Given the description of an element on the screen output the (x, y) to click on. 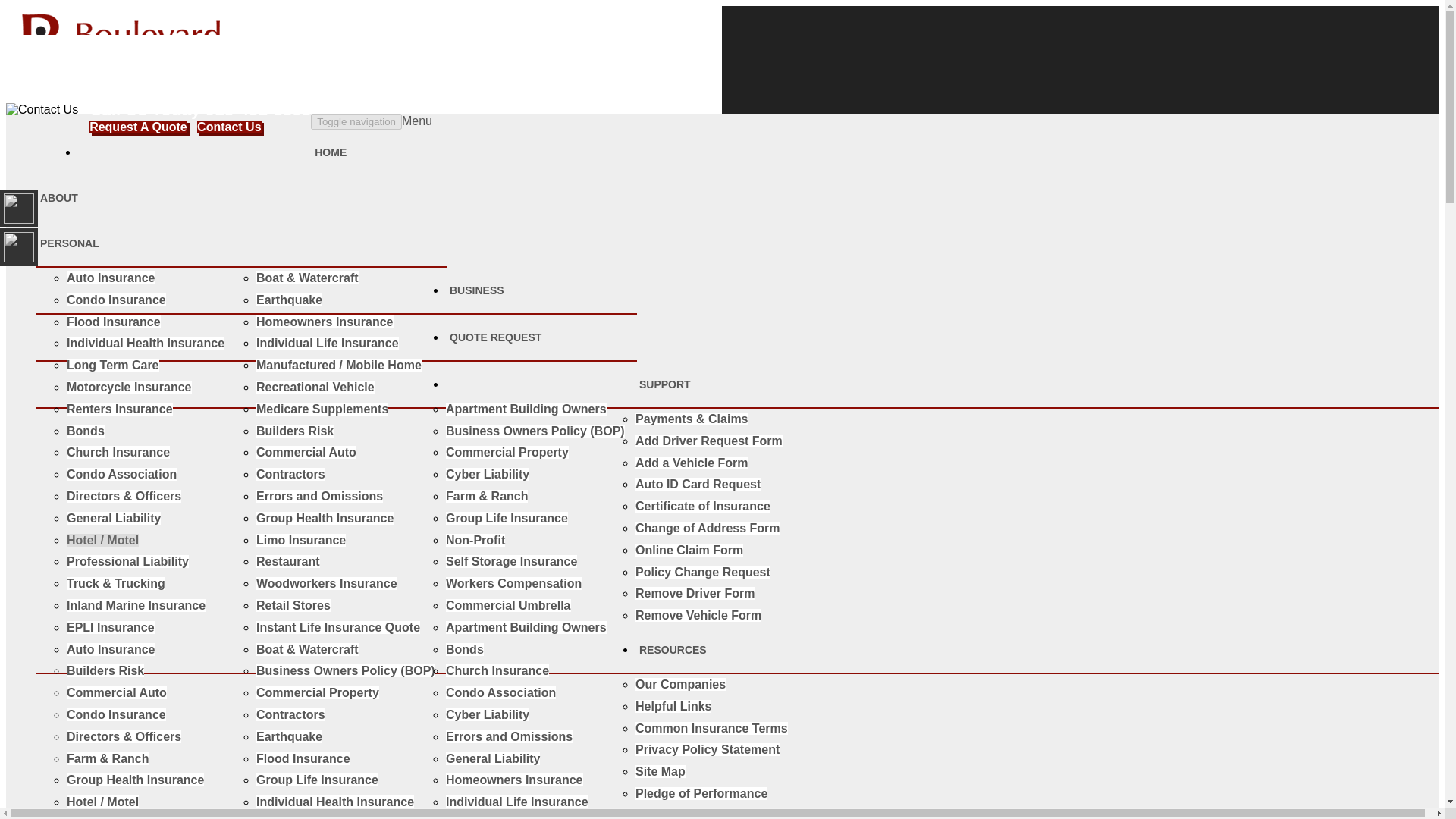
Flood Insurance (113, 321)
Individual Life Insurance (327, 342)
Group Health Insurance (324, 517)
Contact Us (228, 126)
Individual Health Insurance (145, 342)
BUSINESS (478, 290)
Commercial Property (507, 451)
Homeowners Insurance (324, 321)
Renters Insurance (119, 408)
Bonds (85, 431)
